Given the description of an element on the screen output the (x, y) to click on. 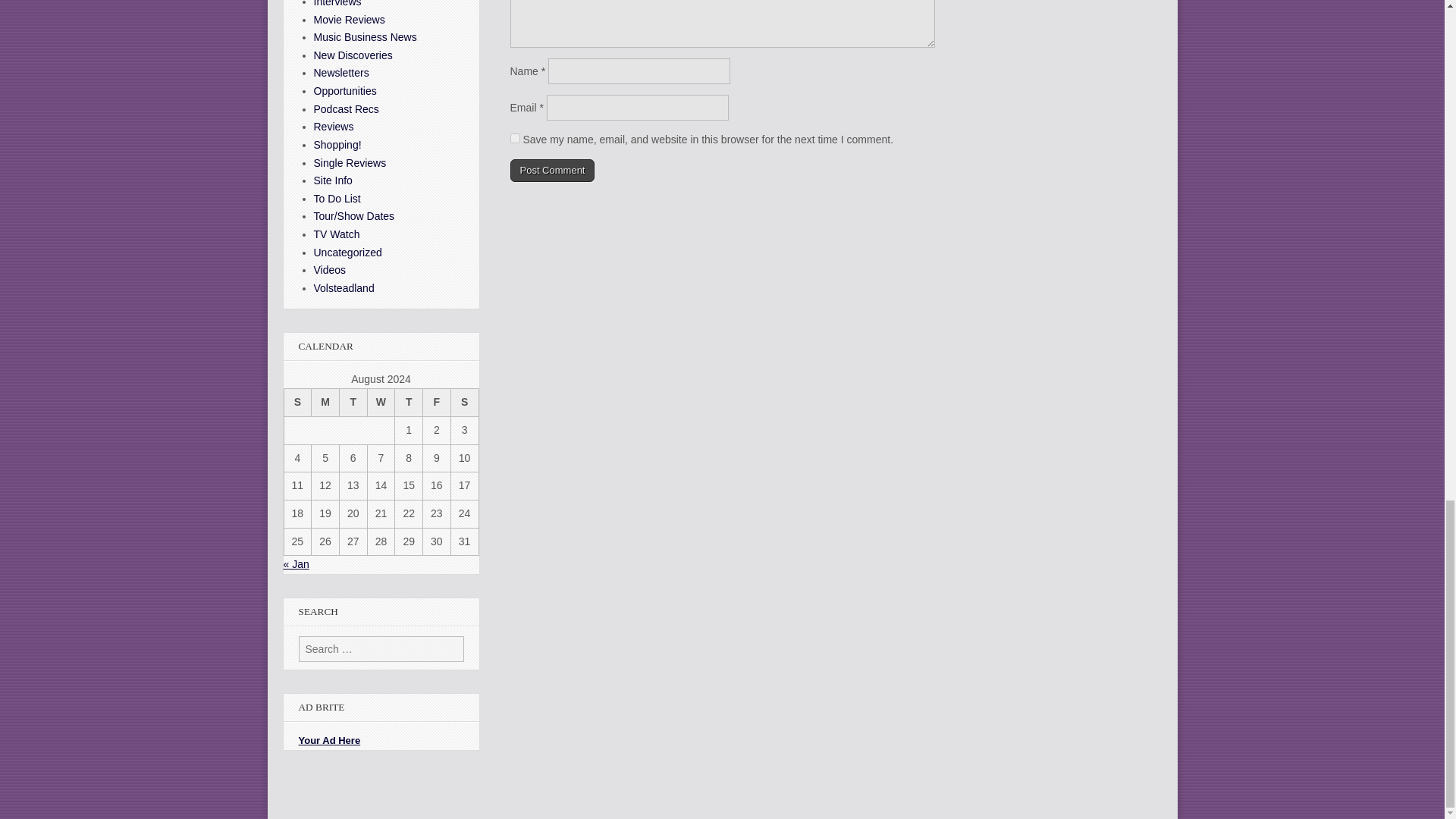
Post Comment (551, 169)
yes (514, 137)
Post Comment (551, 169)
